Given the description of an element on the screen output the (x, y) to click on. 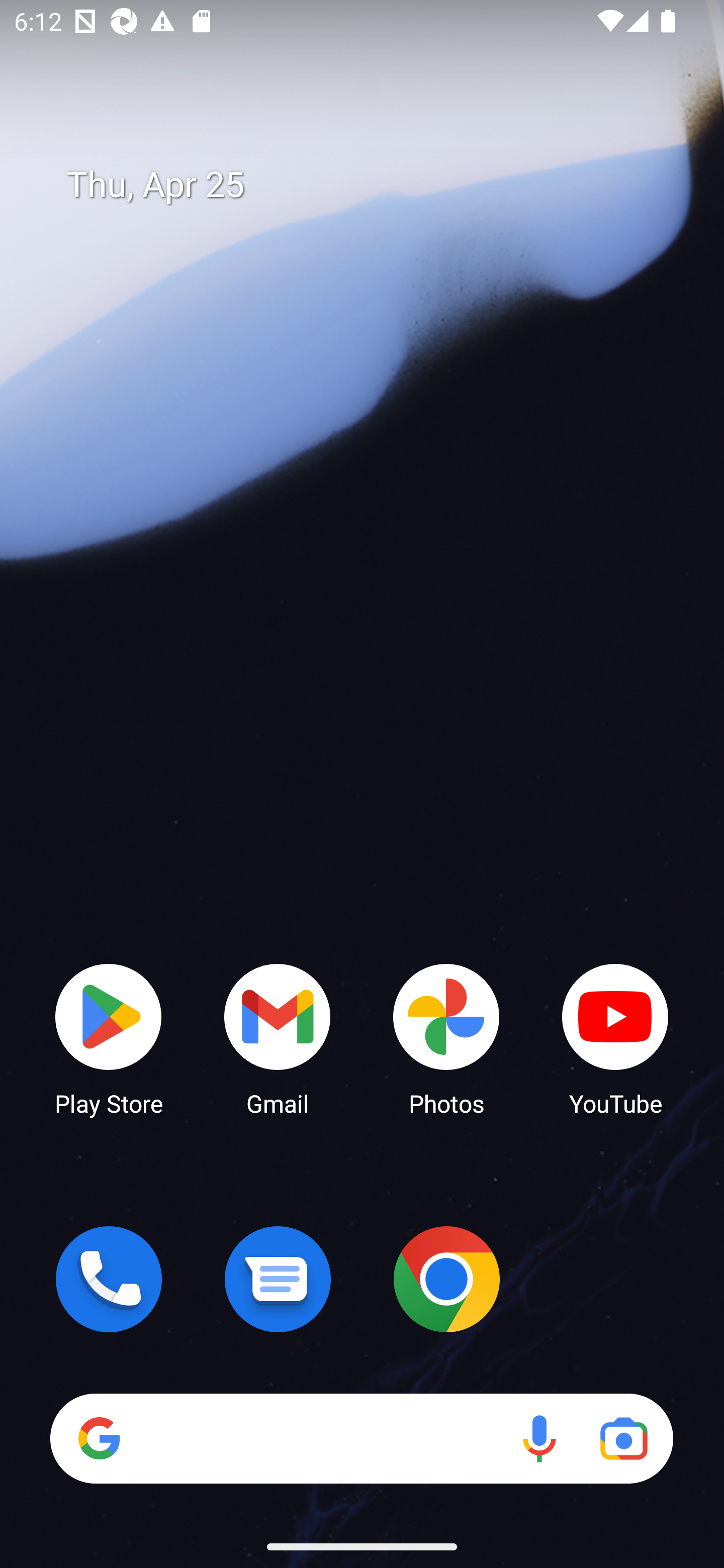
Thu, Apr 25 (375, 184)
Play Store (108, 1038)
Gmail (277, 1038)
Photos (445, 1038)
YouTube (615, 1038)
Phone (108, 1279)
Messages (277, 1279)
Chrome (446, 1279)
Search Voice search Google Lens (361, 1438)
Voice search (539, 1438)
Google Lens (623, 1438)
